Given the description of an element on the screen output the (x, y) to click on. 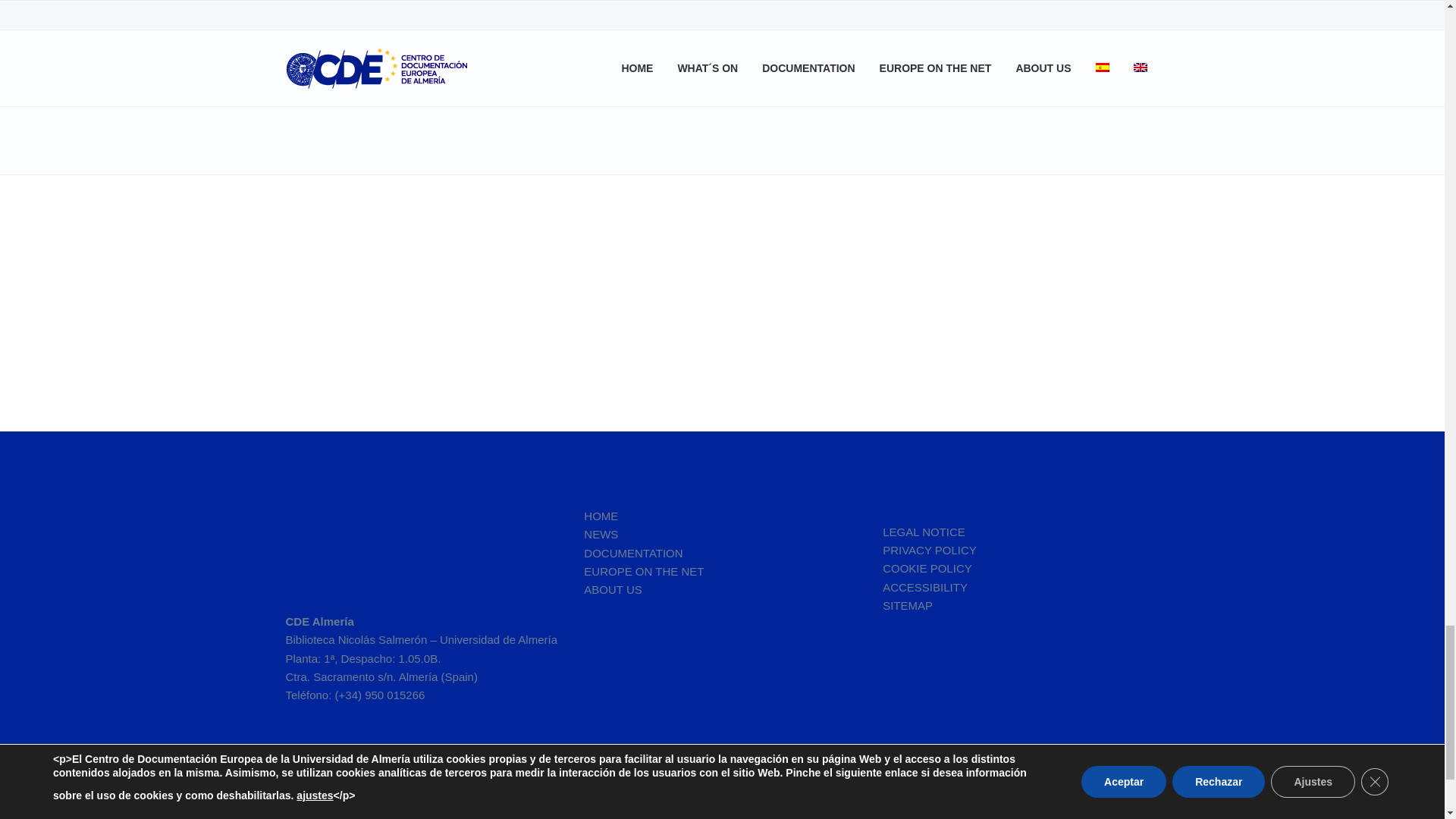
Post Comment (413, 23)
